Given the description of an element on the screen output the (x, y) to click on. 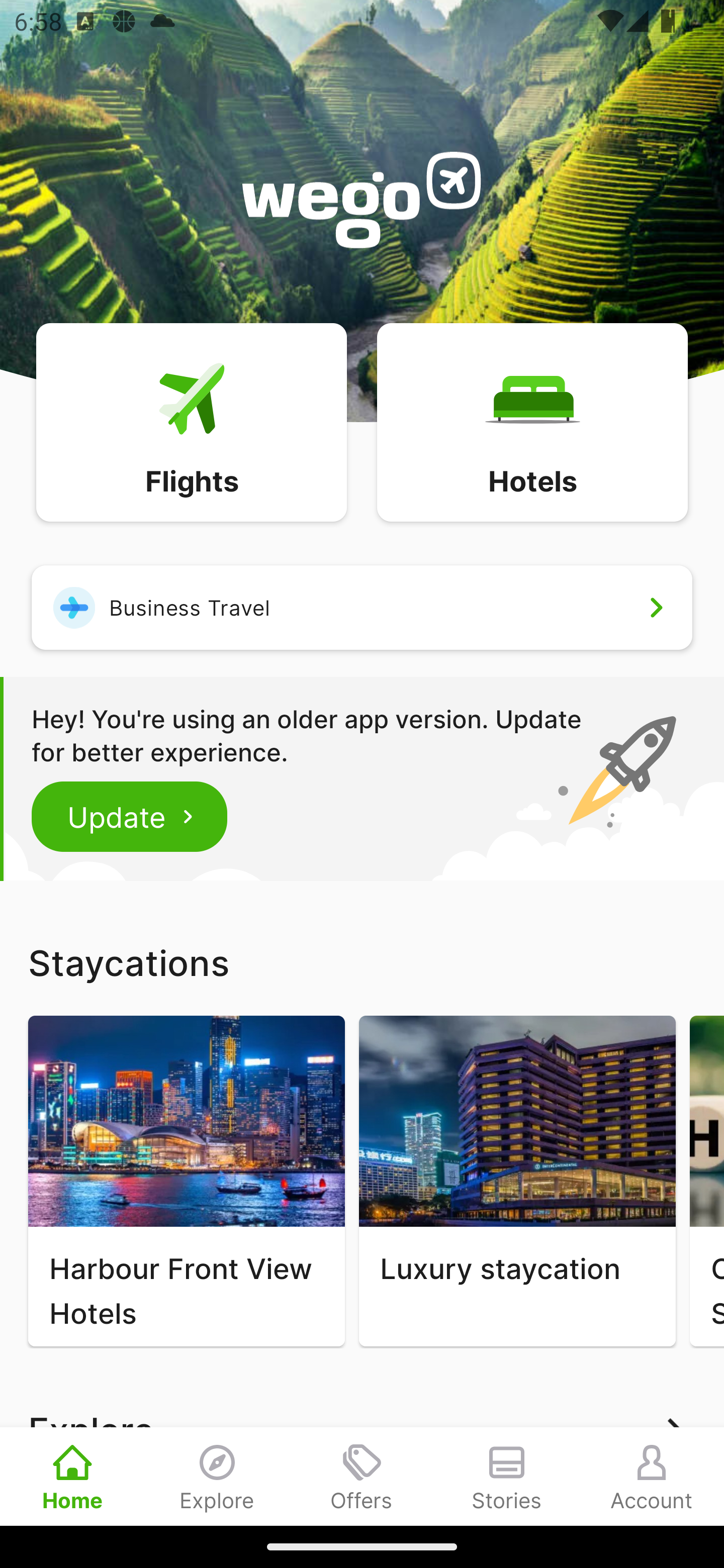
Flights (191, 420)
Hotels (532, 420)
Business Travel (361, 607)
Update (129, 815)
Staycations (362, 962)
Harbour Front View Hotels (186, 1181)
Luxury staycation (517, 1181)
Explore (216, 1475)
Offers (361, 1475)
Stories (506, 1475)
Account (651, 1475)
